Given the description of an element on the screen output the (x, y) to click on. 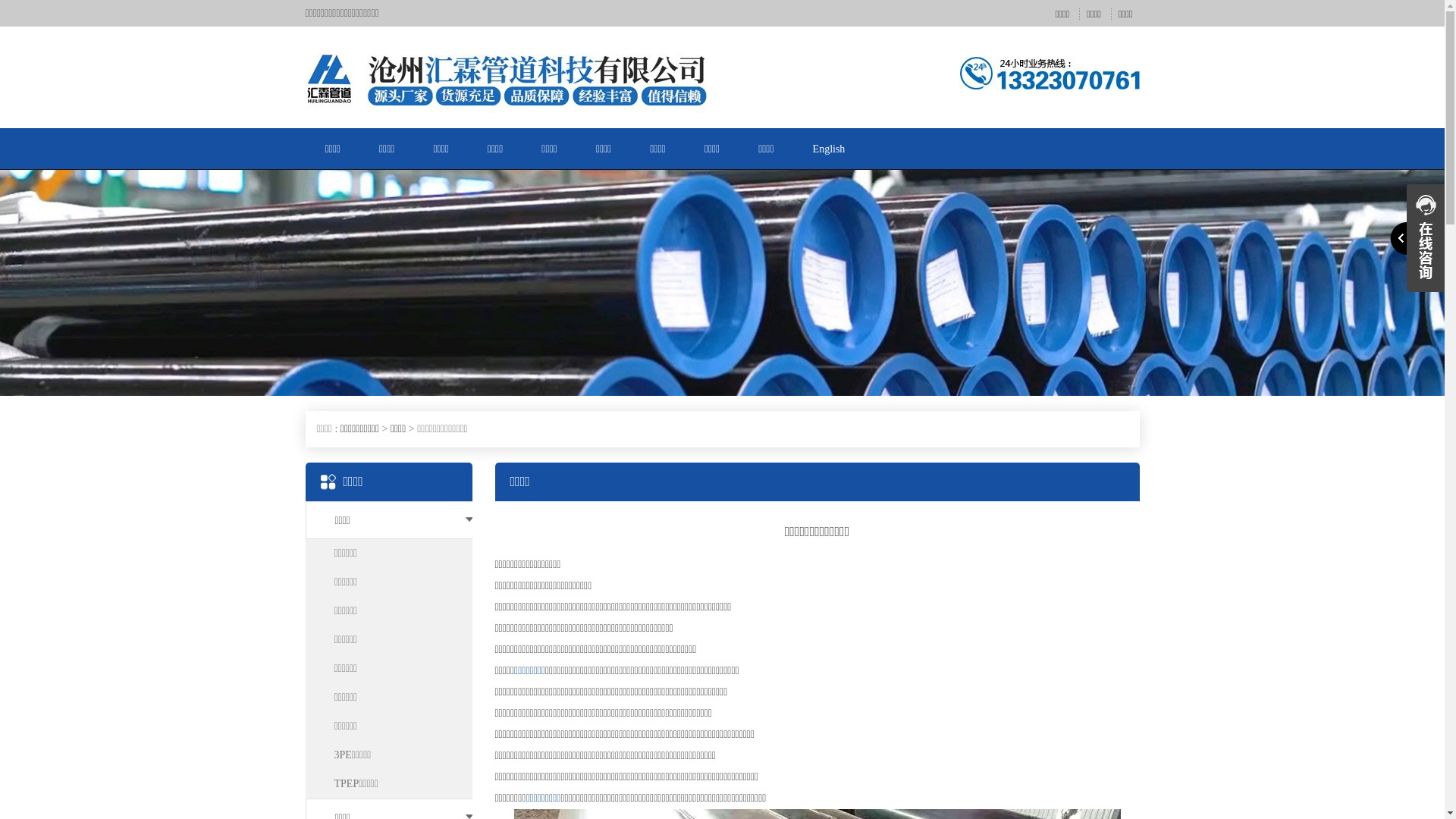
English Element type: text (828, 148)
